Given the description of an element on the screen output the (x, y) to click on. 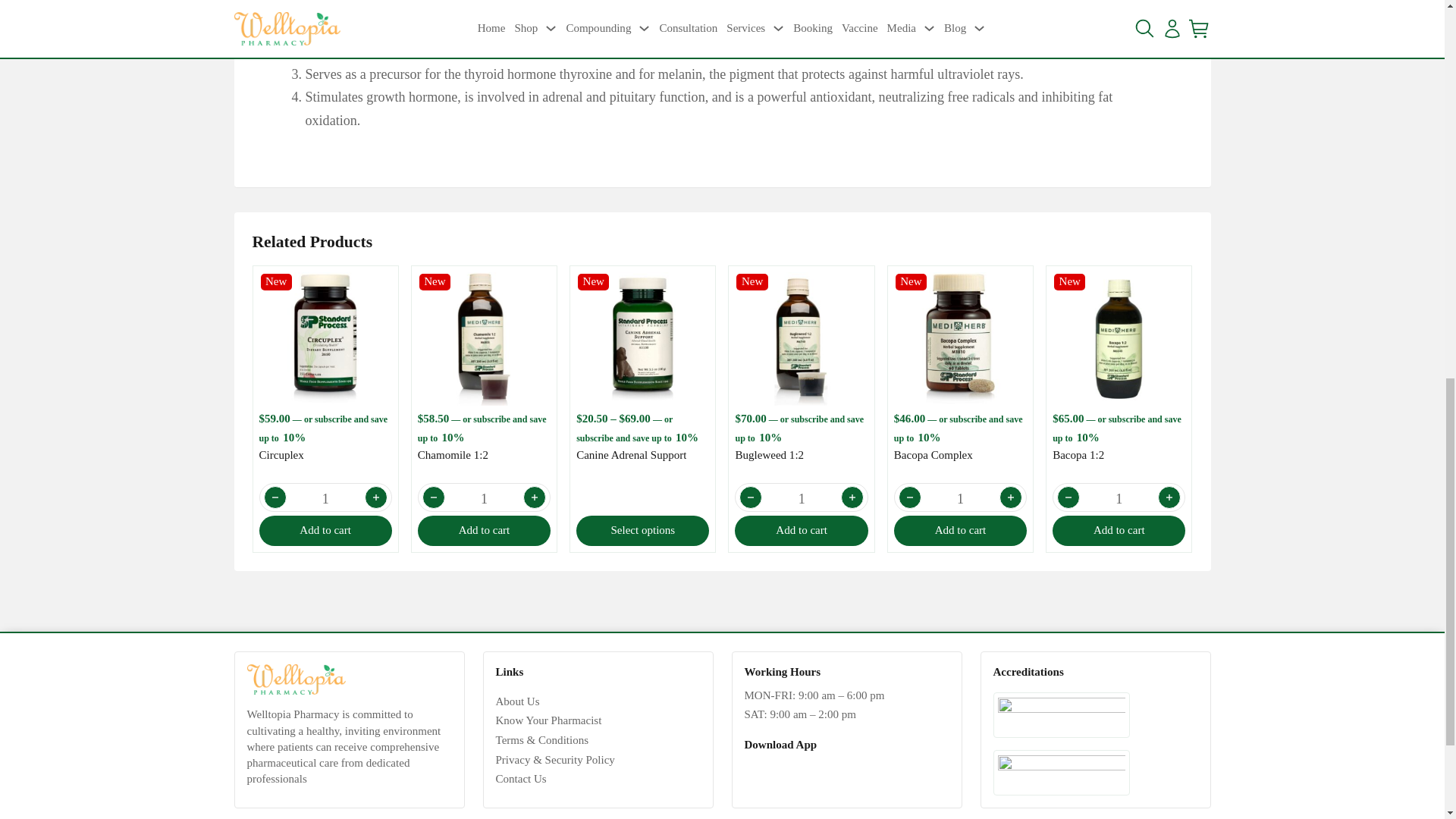
1 (959, 499)
1 (1118, 499)
1 (800, 499)
1 (483, 499)
1 (325, 499)
